Given the description of an element on the screen output the (x, y) to click on. 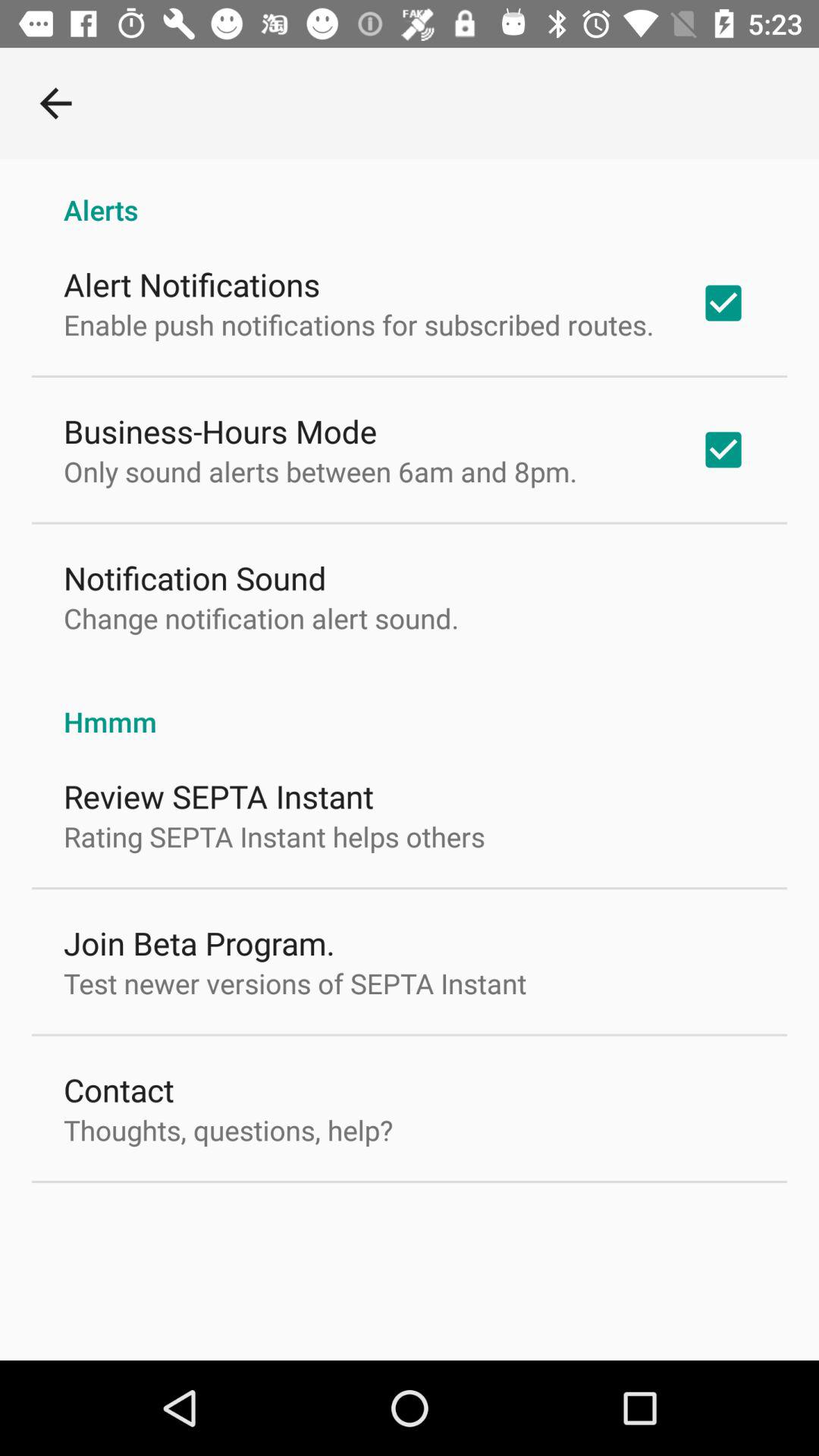
tap item below business-hours mode (320, 471)
